Given the description of an element on the screen output the (x, y) to click on. 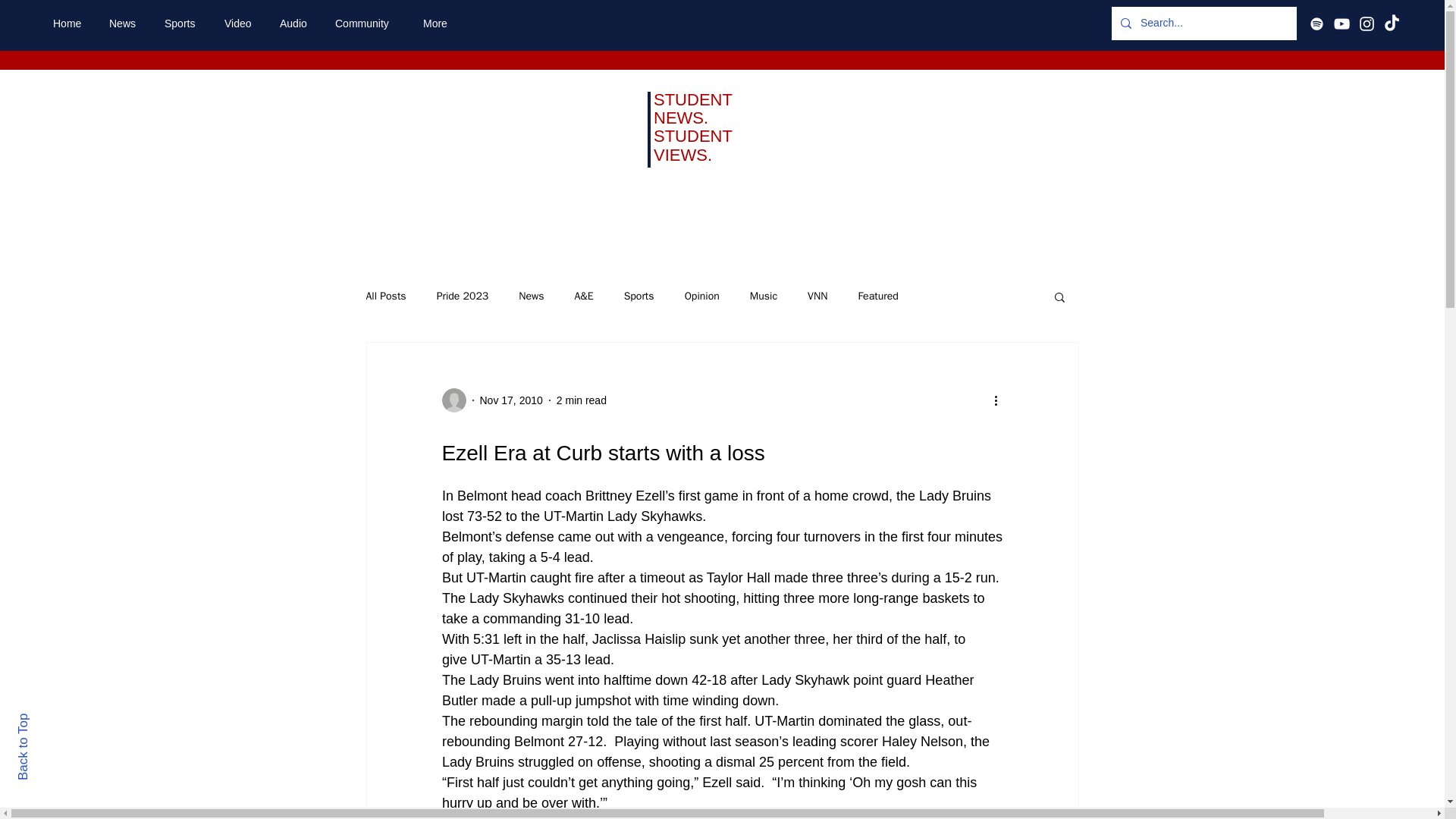
Sports (638, 296)
News (530, 296)
Community (367, 23)
News (124, 23)
Audio (295, 23)
Opinion (701, 296)
All Posts (385, 296)
VNN (817, 296)
Nov 17, 2010 (510, 399)
2 min read (581, 399)
